Given the description of an element on the screen output the (x, y) to click on. 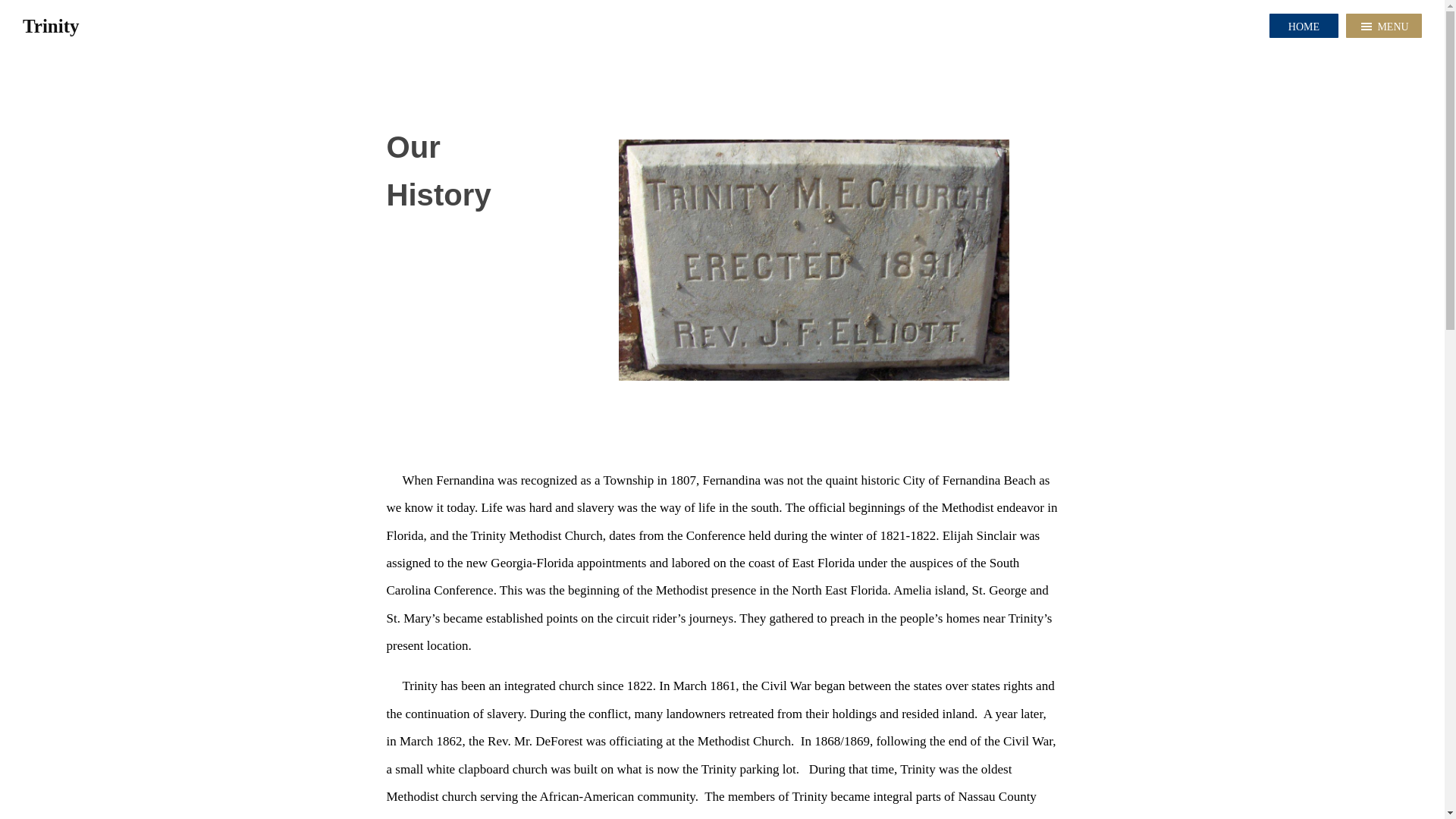
MENU (1383, 25)
  Trinity (53, 26)
HOME (1303, 25)
